Given the description of an element on the screen output the (x, y) to click on. 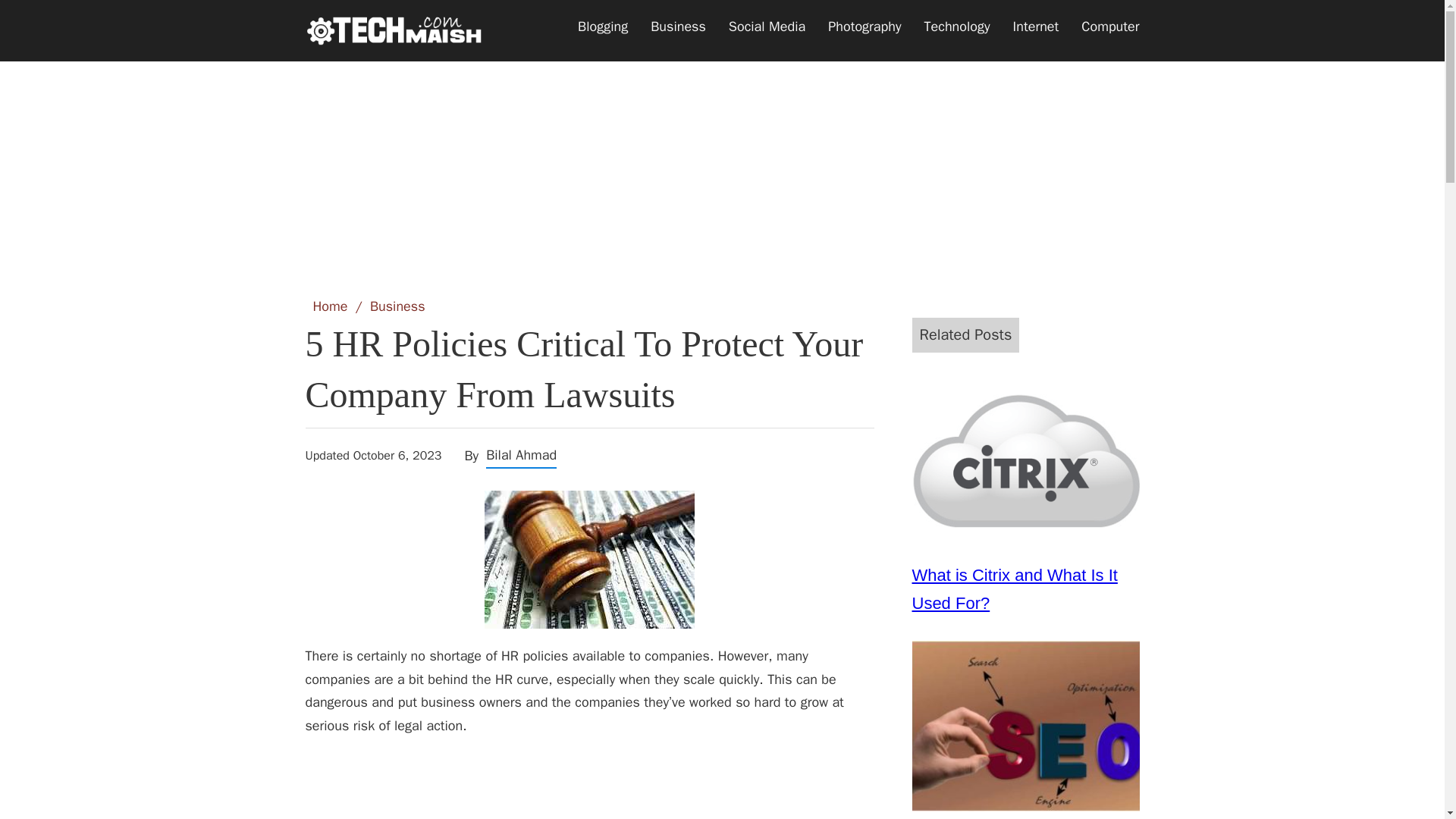
Bilal Ahmad (521, 454)
Photography (864, 26)
Advertisement (721, 159)
Computer (1109, 26)
Internet (1036, 26)
Technology (957, 26)
Blogging (602, 26)
Business (397, 306)
Home (330, 306)
Business (678, 26)
Social Media (767, 26)
Advertisement (588, 786)
